Given the description of an element on the screen output the (x, y) to click on. 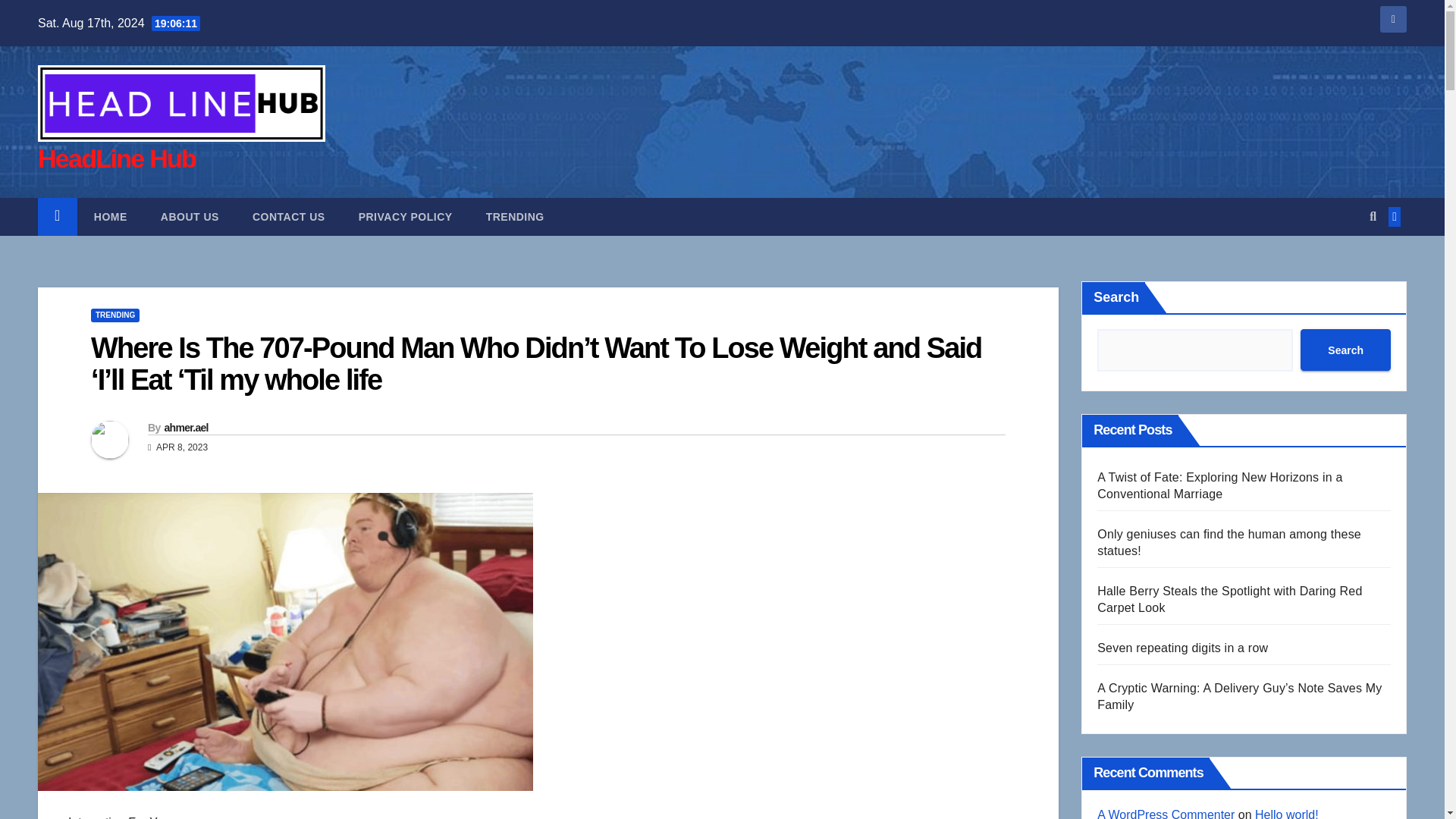
Trending (514, 216)
TRENDING (114, 315)
Contact Us (288, 216)
Home (110, 216)
HeadLine Hub (116, 158)
HOME (110, 216)
ABOUT US (189, 216)
CONTACT US (288, 216)
TRENDING (514, 216)
PRIVACY POLICY (405, 216)
